Given the description of an element on the screen output the (x, y) to click on. 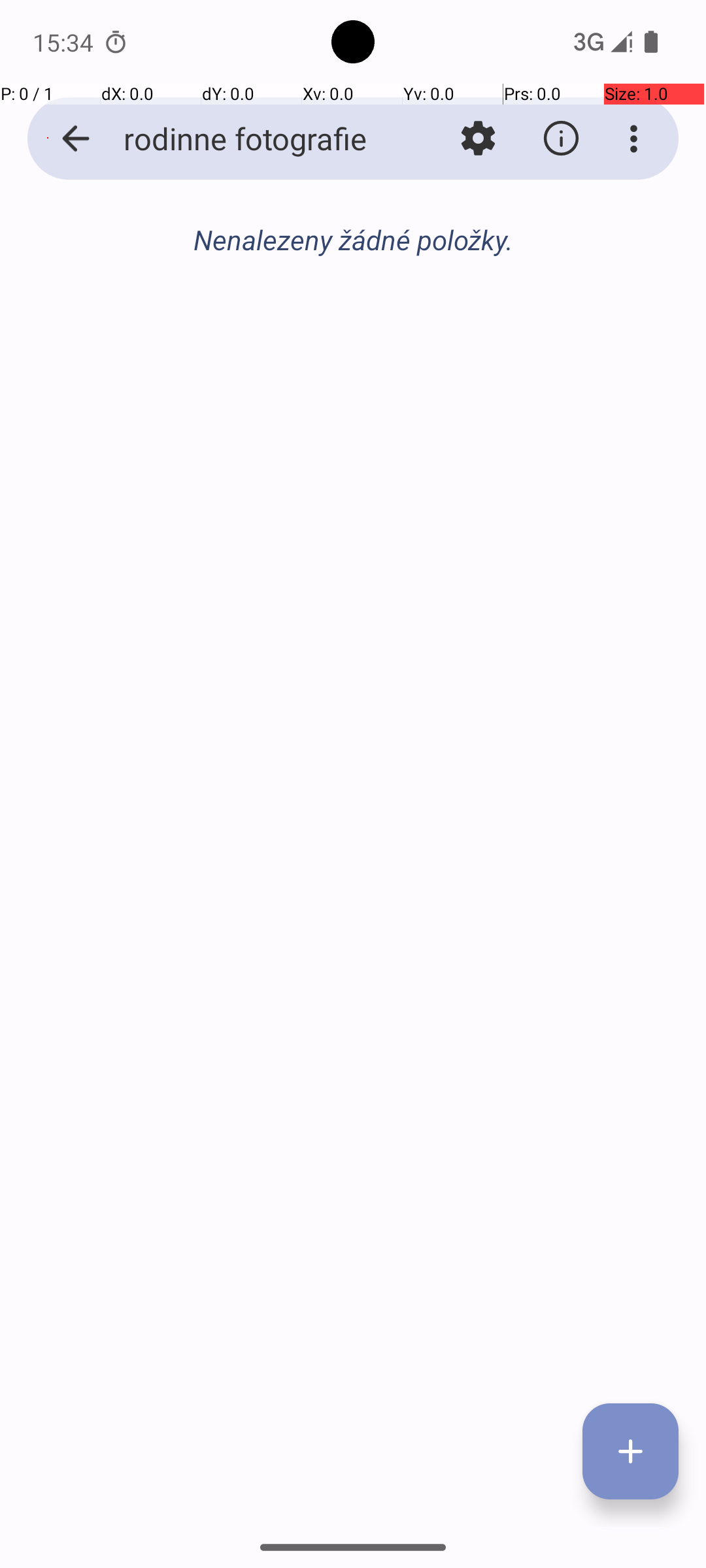
Nenalezeny žádné položky. Element type: android.widget.TextView (353, 239)
rodinne fotografie Element type: android.widget.EditText (252, 138)
Nebyly nalezeny žádné uložené konverzace Element type: android.widget.TextView (353, 246)
Zahajte konverzaci Element type: android.widget.TextView (352, 311)
